Given the description of an element on the screen output the (x, y) to click on. 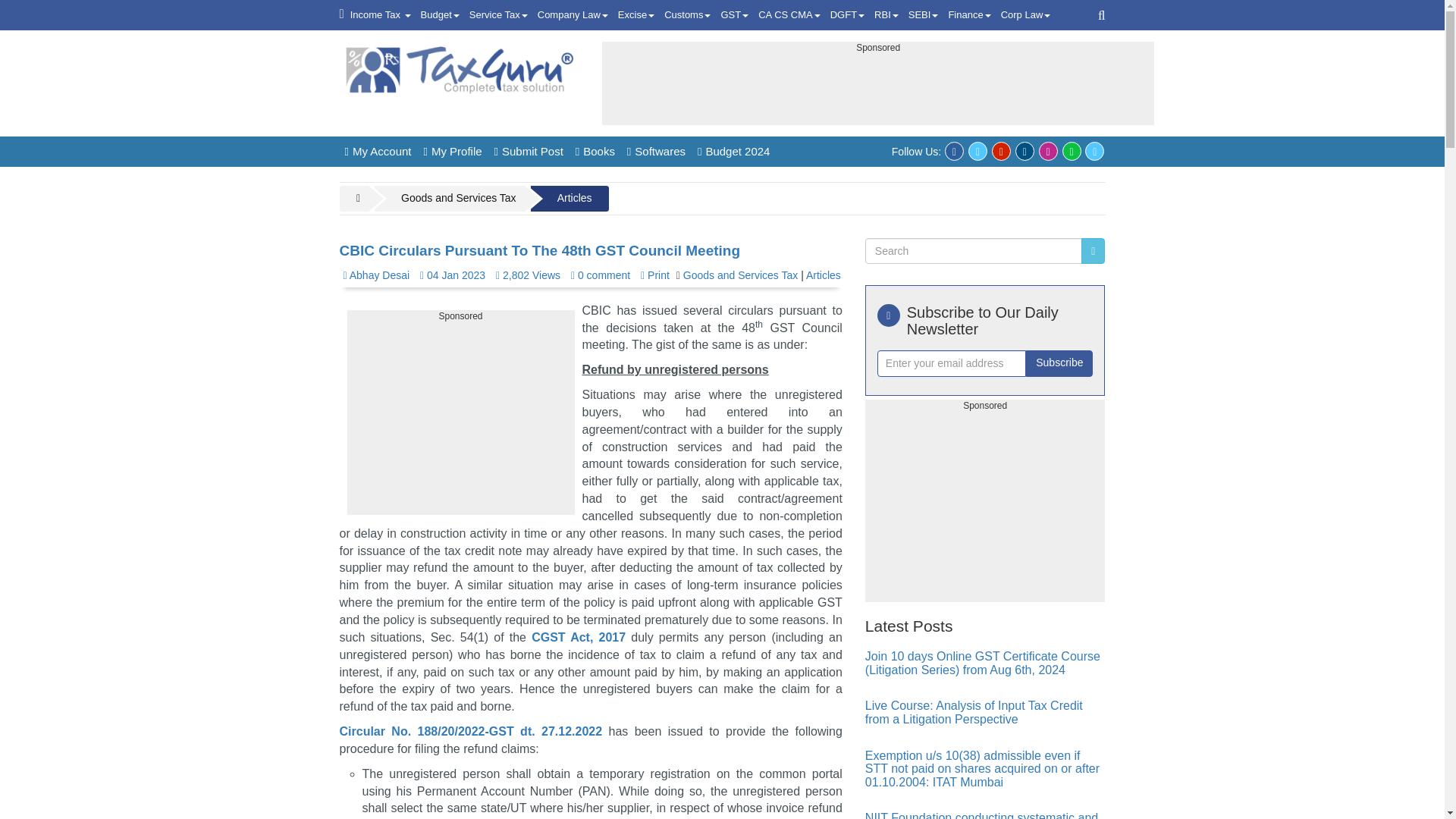
Customs (687, 15)
Income Tax (380, 15)
Union Budget 2024 Article News Notifications (439, 15)
Excise (636, 15)
Service Tax (498, 15)
Budget (439, 15)
Company Law (572, 15)
Income Tax Related Information (380, 15)
Service Tax Article News Notifications Judgments (498, 15)
